Given the description of an element on the screen output the (x, y) to click on. 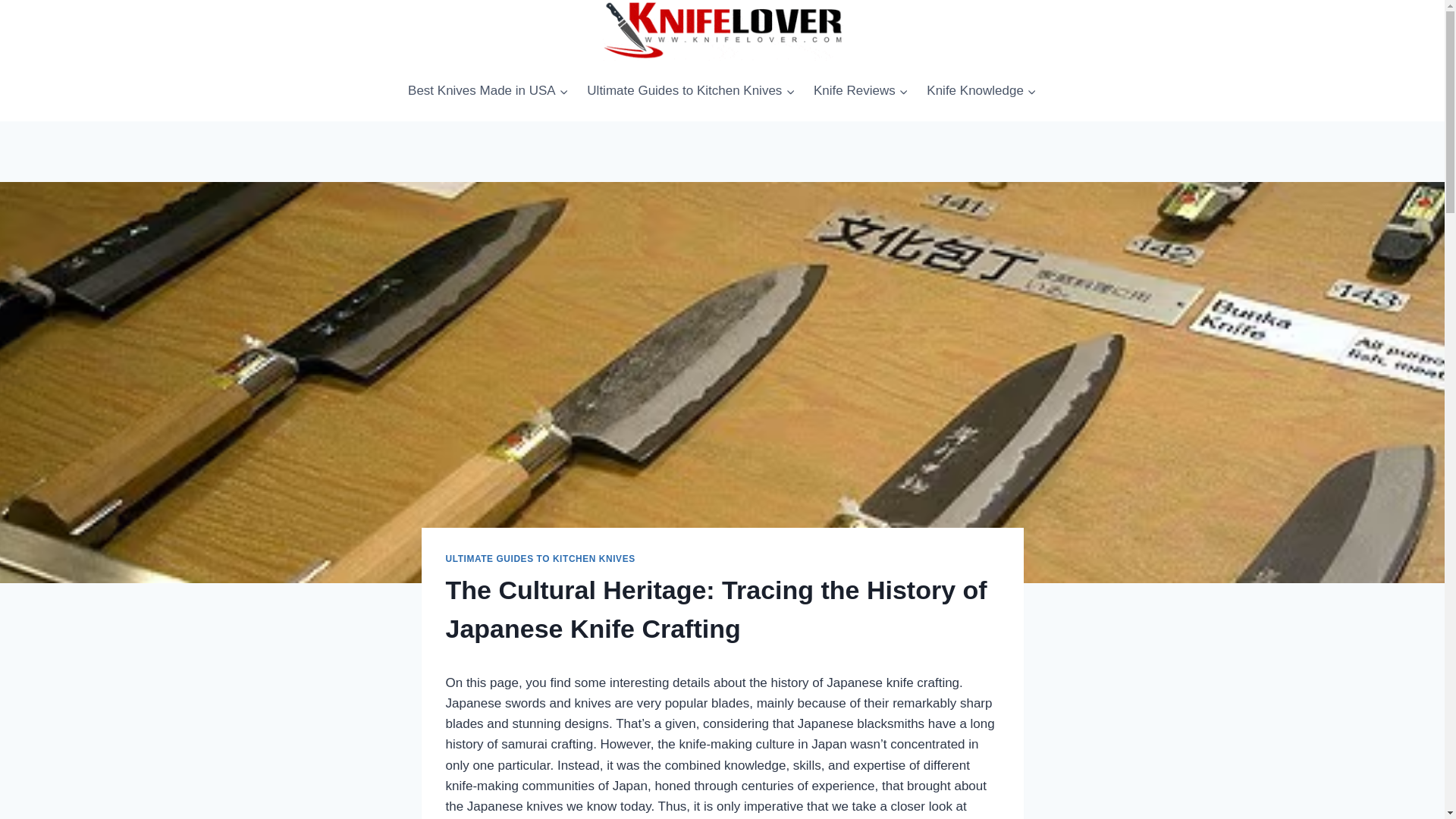
Knife Reviews (861, 90)
Ultimate Guides to Kitchen Knives (691, 90)
Knife Knowledge (981, 90)
Best Knives Made in USA (488, 90)
